Given the description of an element on the screen output the (x, y) to click on. 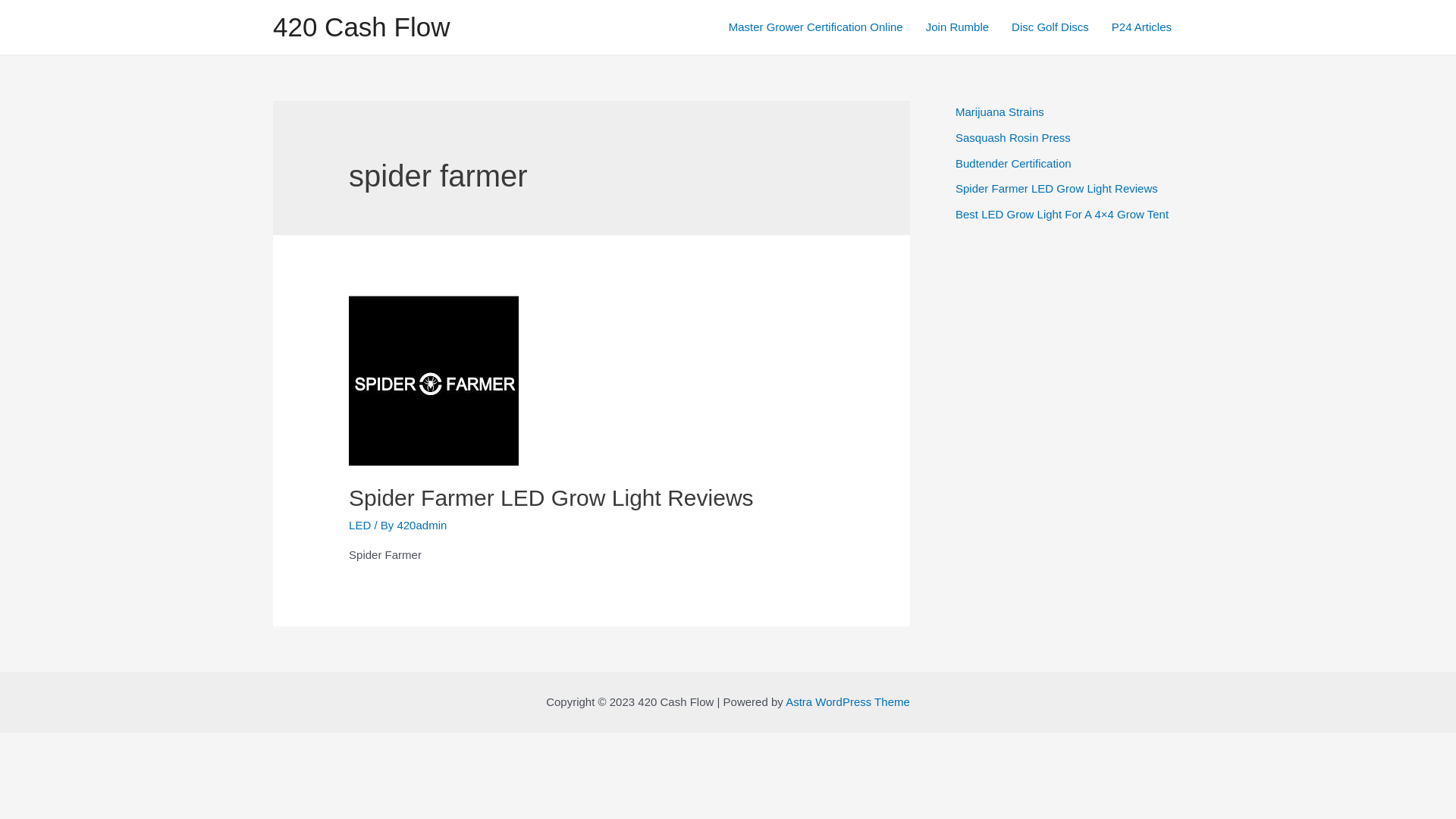
Master Grower Certification Online Element type: text (815, 26)
LED Element type: text (359, 524)
Budtender Certification Element type: text (1013, 162)
Astra WordPress Theme Element type: text (847, 701)
Marijuana Strains Element type: text (999, 111)
Disc Golf Discs Element type: text (1050, 26)
Join Rumble Element type: text (957, 26)
420admin Element type: text (421, 524)
Spider Farmer LED Grow Light Reviews Element type: text (550, 497)
Sasquash Rosin Press Element type: text (1012, 137)
Spider Farmer LED Grow Light Reviews Element type: text (1056, 188)
420 Cash Flow Element type: text (361, 26)
P24 Articles Element type: text (1141, 26)
